Given the description of an element on the screen output the (x, y) to click on. 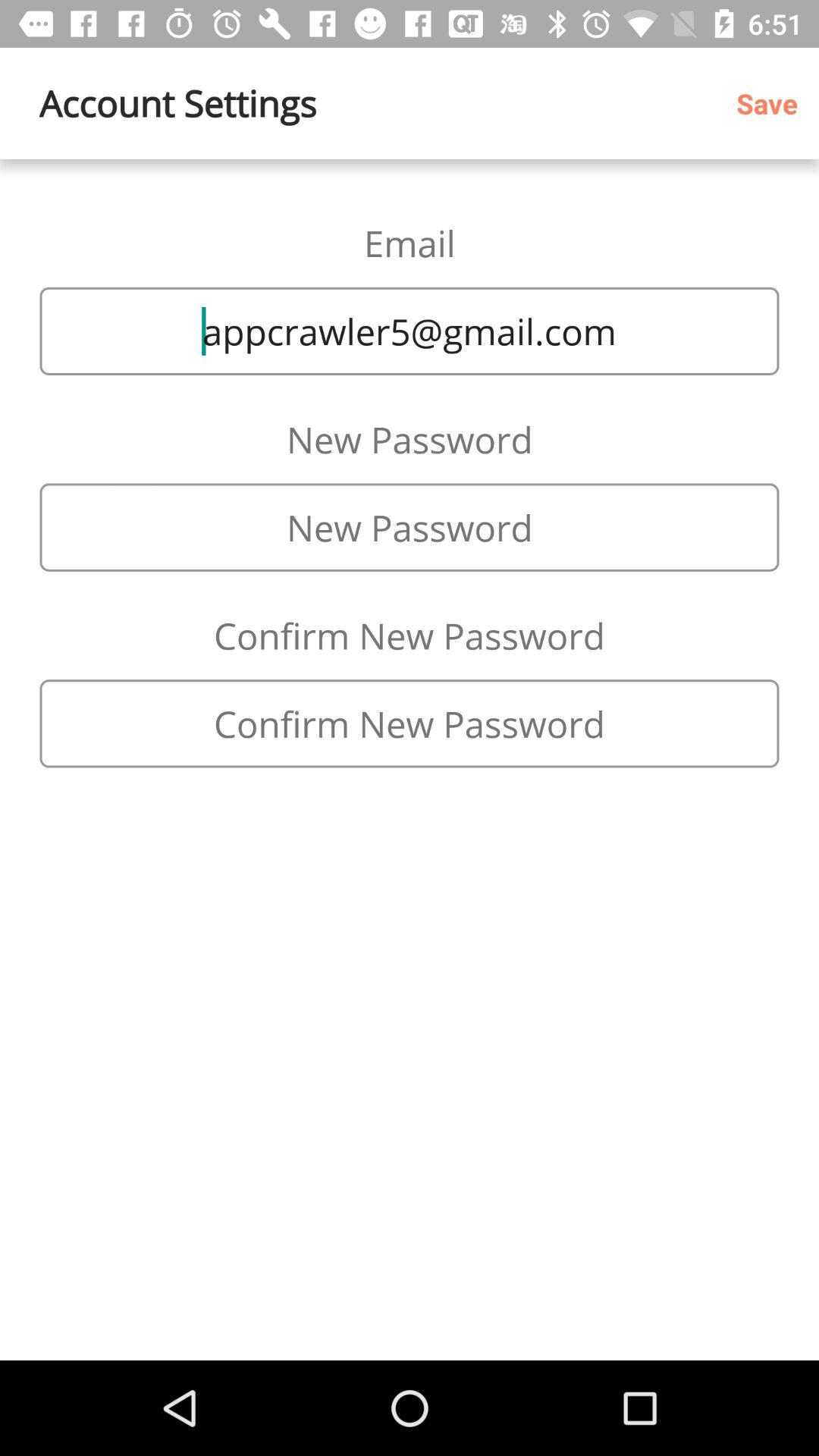
scroll to appcrawler5@gmail.com (409, 331)
